Given the description of an element on the screen output the (x, y) to click on. 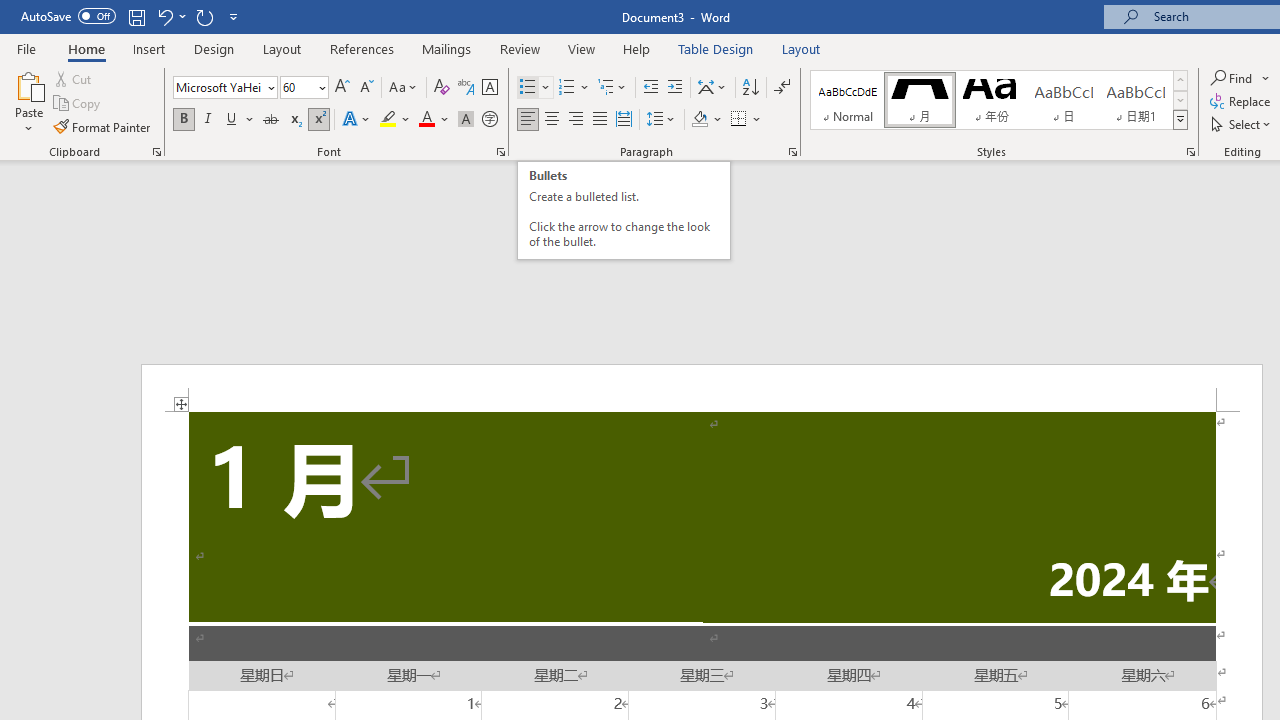
Find (1233, 78)
Font Size (304, 87)
Undo Superscript (170, 15)
View (582, 48)
Select (1242, 124)
Enclose Characters... (489, 119)
Superscript (319, 119)
Table Design (715, 48)
Shading RGB(0, 0, 0) (699, 119)
Find (1240, 78)
AutoSave (68, 16)
Text Highlight Color Yellow (388, 119)
